Given the description of an element on the screen output the (x, y) to click on. 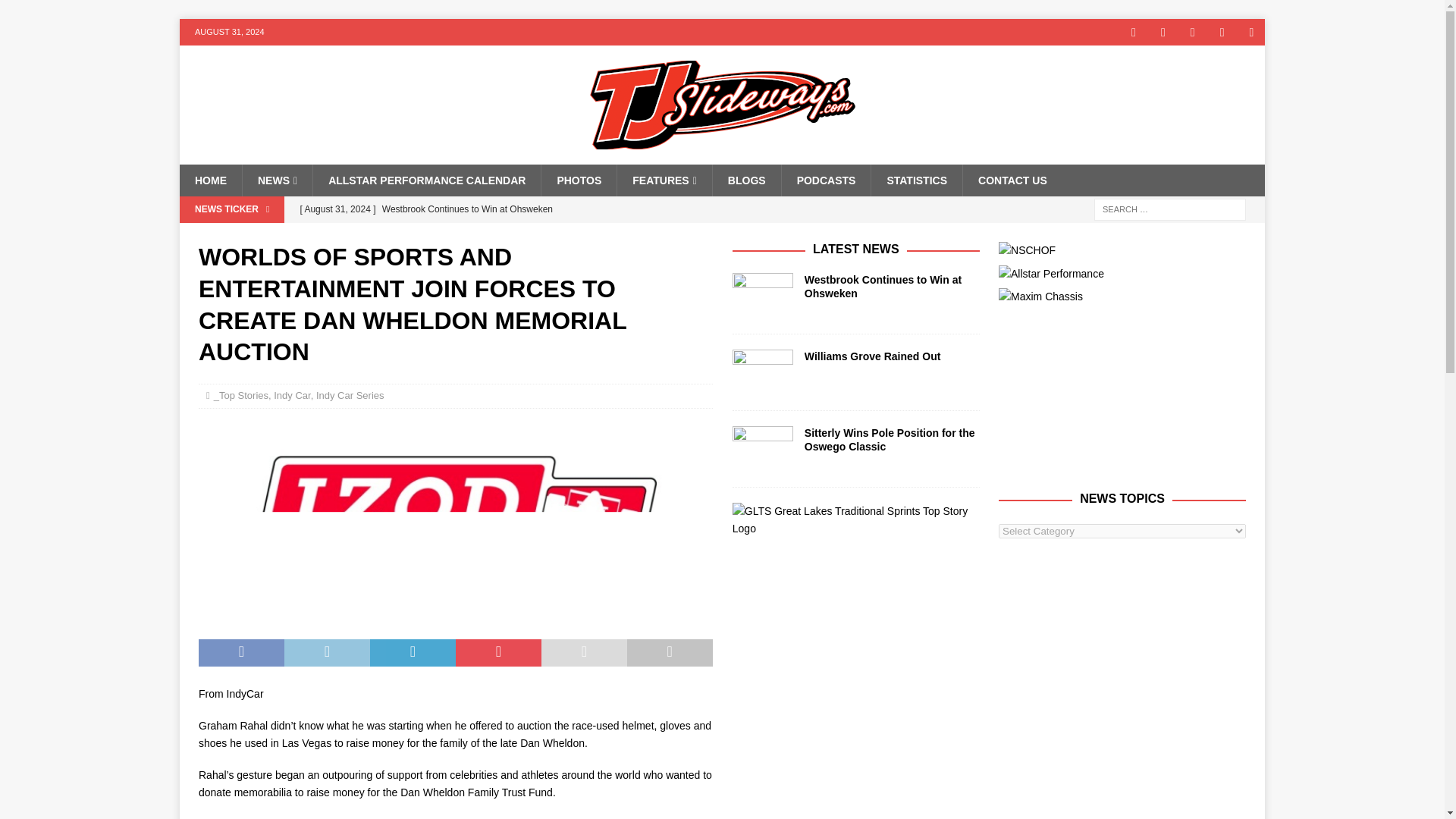
CONTACT US (1012, 180)
Williams Grove Rained Out (589, 234)
BLOGS (745, 180)
STATISTICS (916, 180)
ALLSTAR PERFORMANCE CALENDAR (426, 180)
IZOD Indy Car Series (455, 524)
FEATURES (663, 180)
NEWS (277, 180)
HOME (210, 180)
PODCASTS (825, 180)
